Given the description of an element on the screen output the (x, y) to click on. 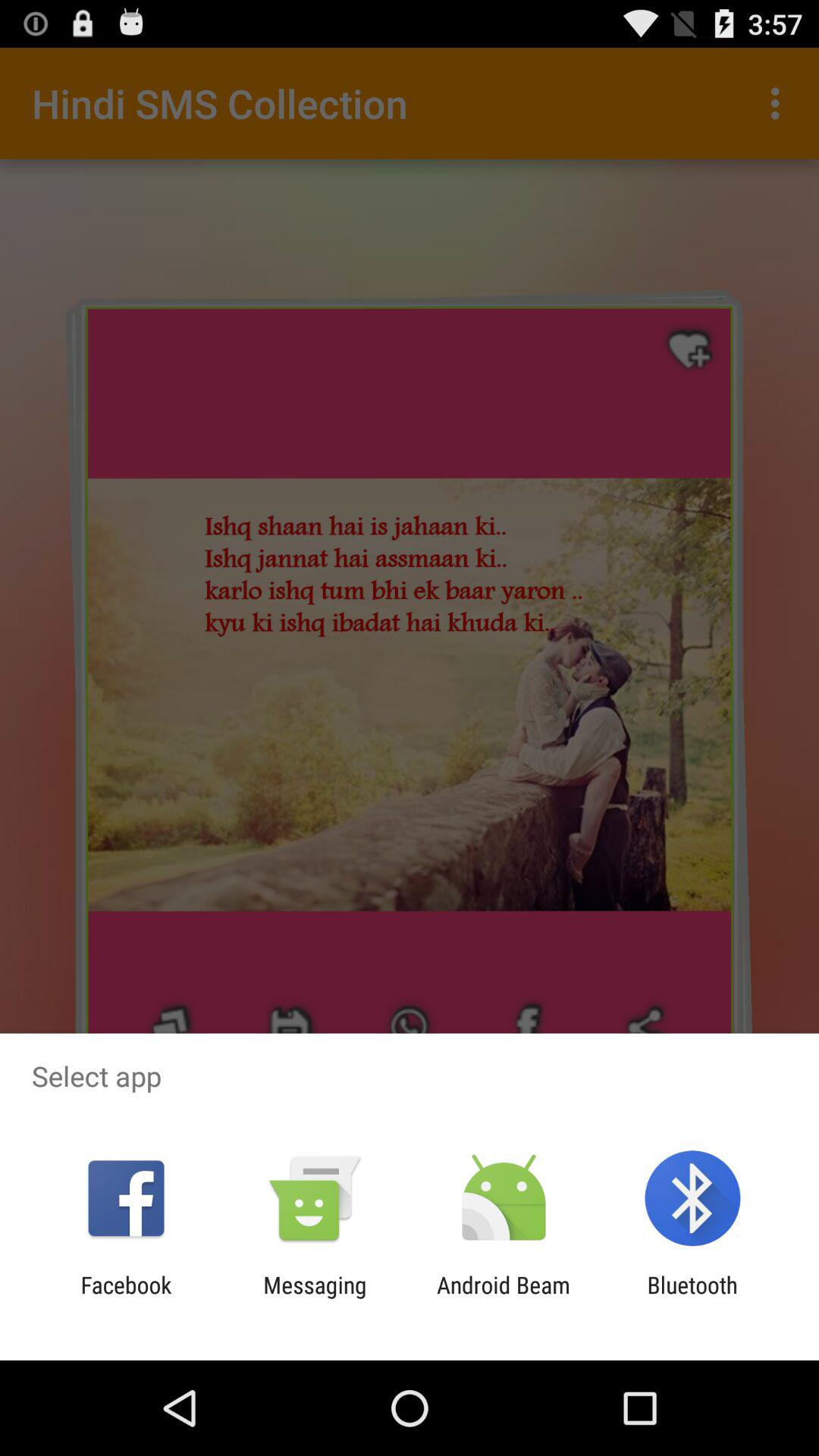
jump until the bluetooth app (692, 1298)
